Given the description of an element on the screen output the (x, y) to click on. 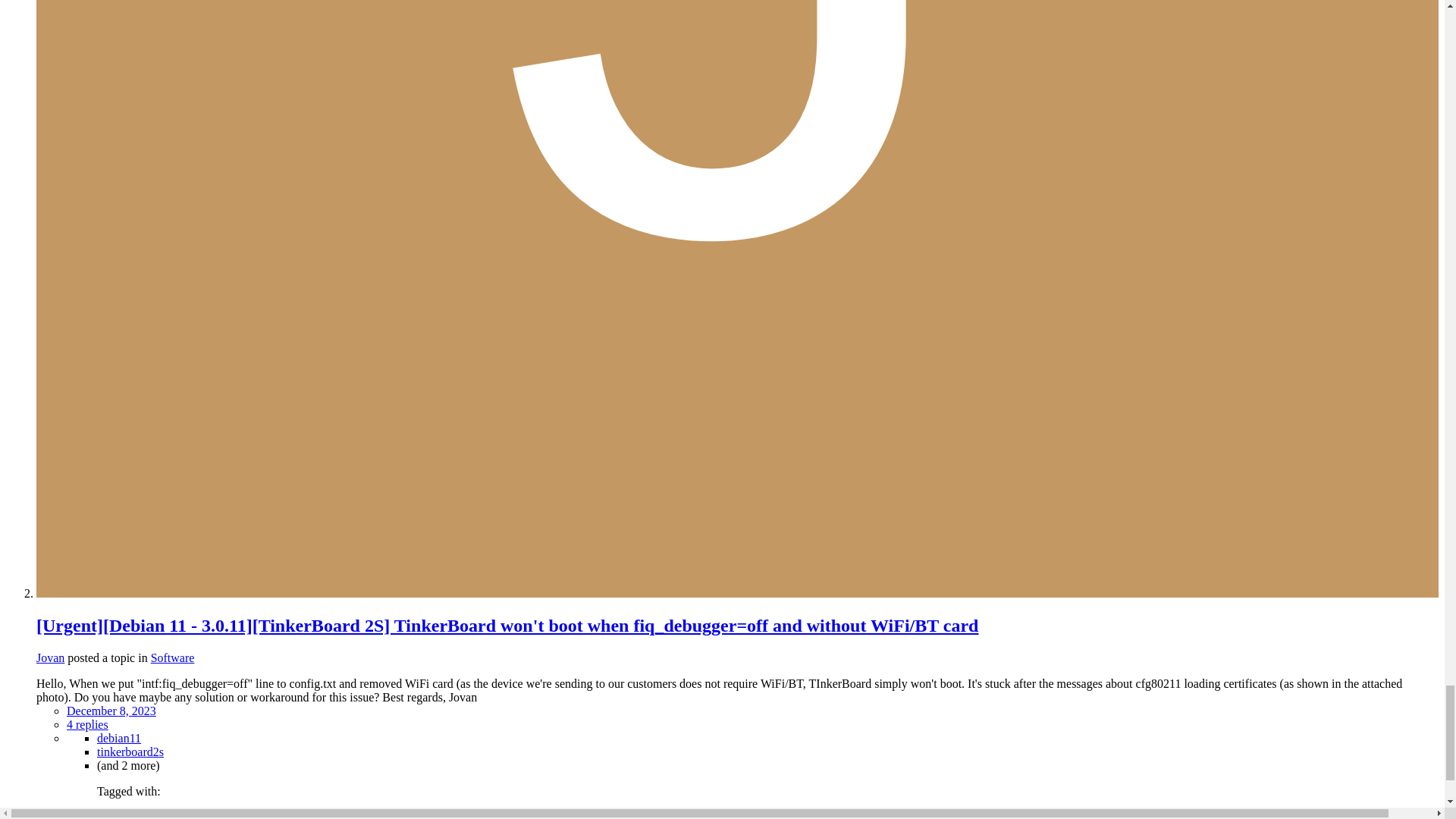
Go to Jovan's profile (50, 656)
Find other content tagged with 'tinkerboard2s' (130, 750)
Find other content tagged with 'debian11' (119, 737)
Find other content tagged with 'debian11' (149, 814)
